Given the description of an element on the screen output the (x, y) to click on. 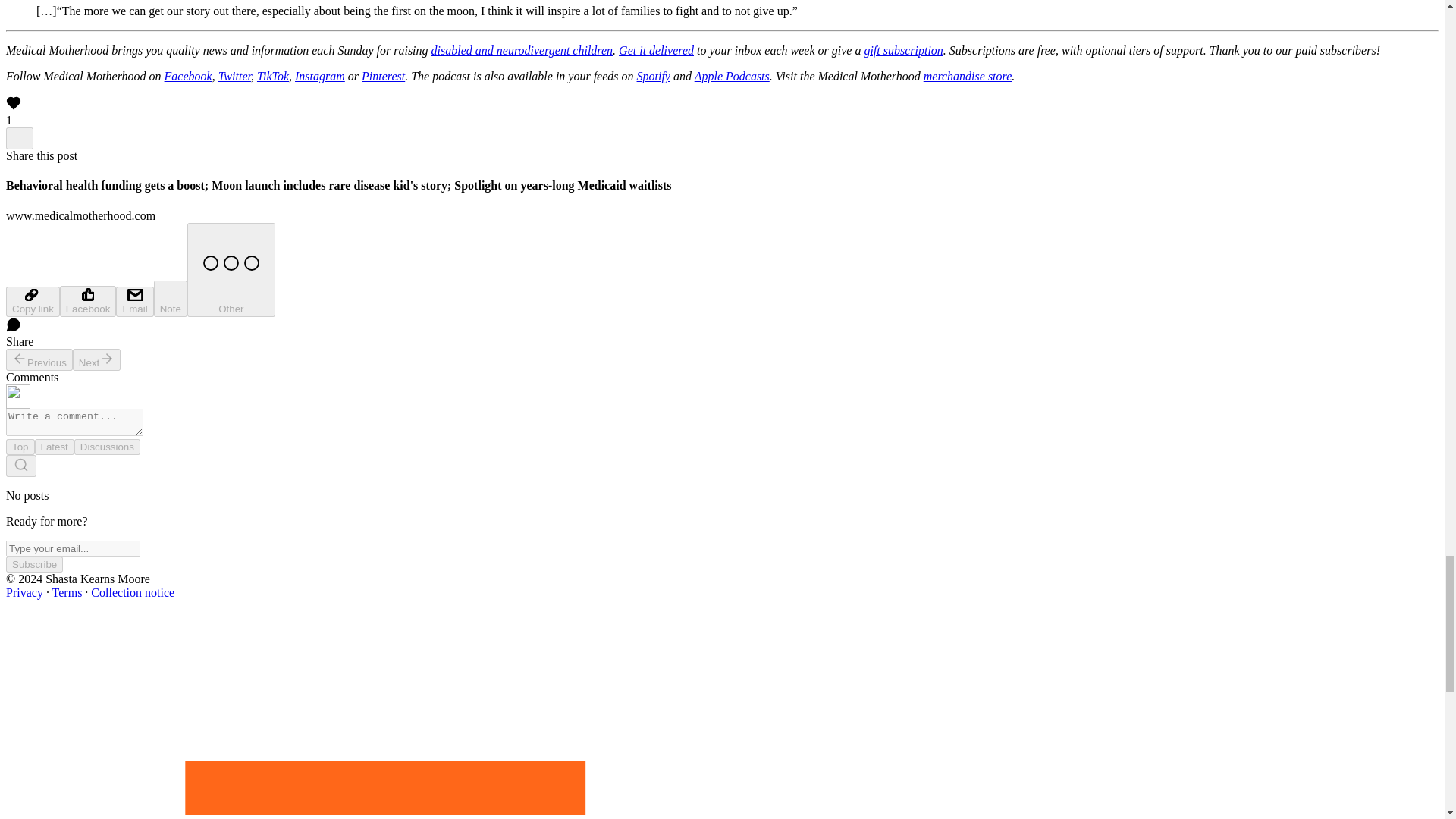
Get it delivered (656, 50)
disabled and neurodivergent children (521, 50)
